Given the description of an element on the screen output the (x, y) to click on. 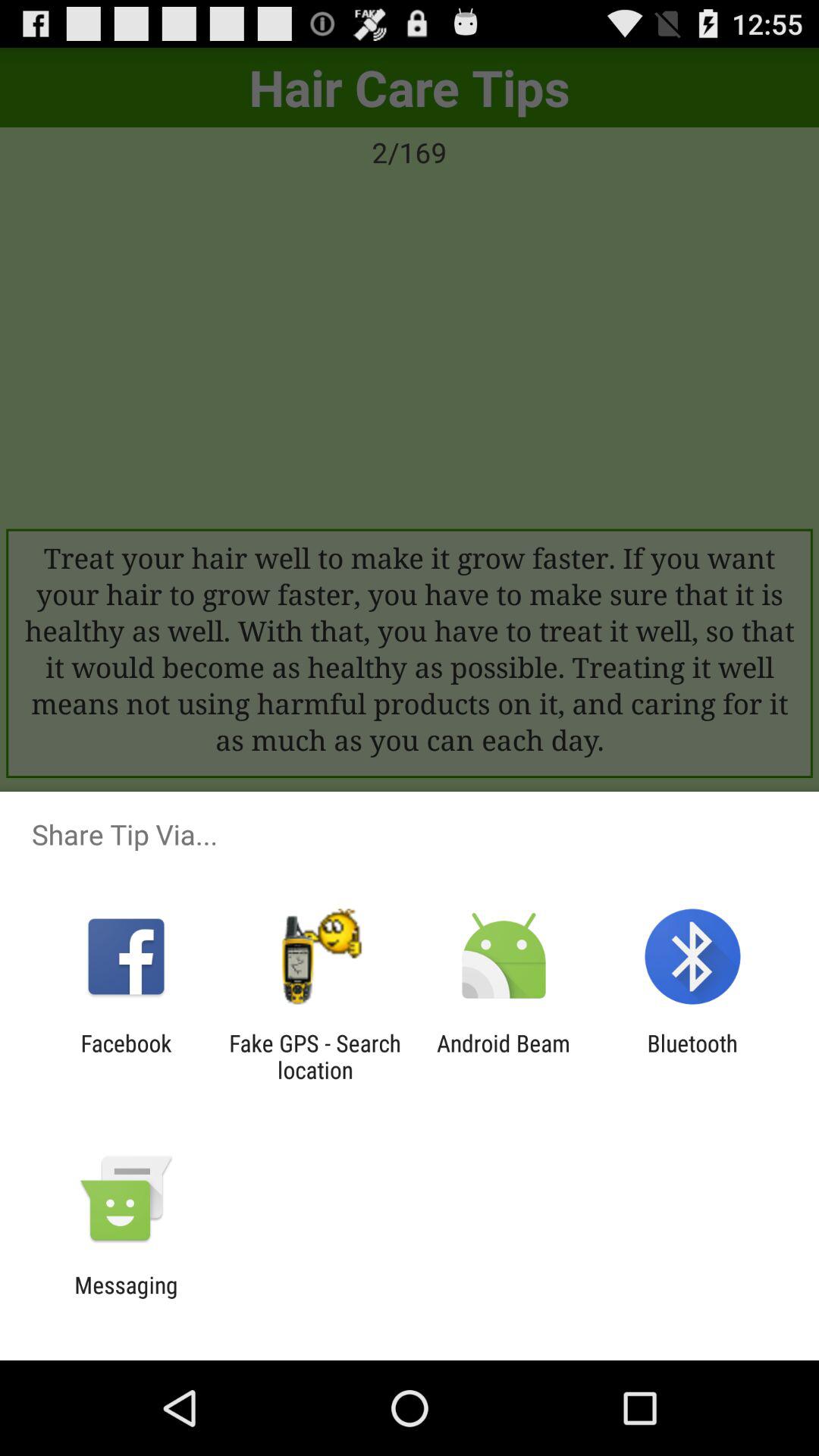
tap item next to bluetooth item (503, 1056)
